Given the description of an element on the screen output the (x, y) to click on. 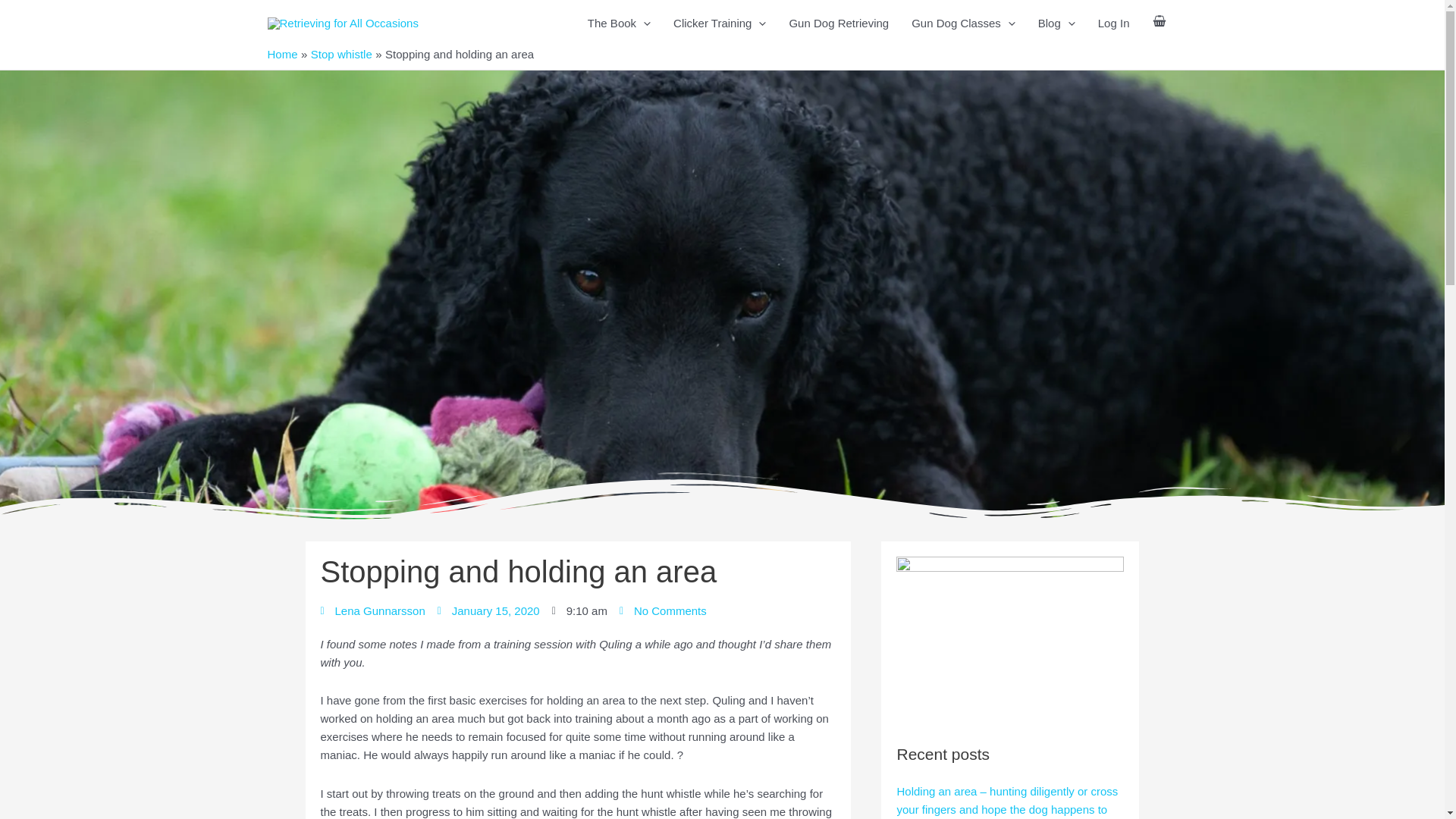
The Book (619, 22)
Stop whistle (341, 53)
Log In (1113, 22)
Lena Gunnarsson (372, 610)
Gun Dog Retrieving (838, 22)
Gun Dog Classes (962, 22)
January 15, 2020 (489, 610)
Home (281, 53)
No Comments (663, 610)
Blog (1056, 22)
